Given the description of an element on the screen output the (x, y) to click on. 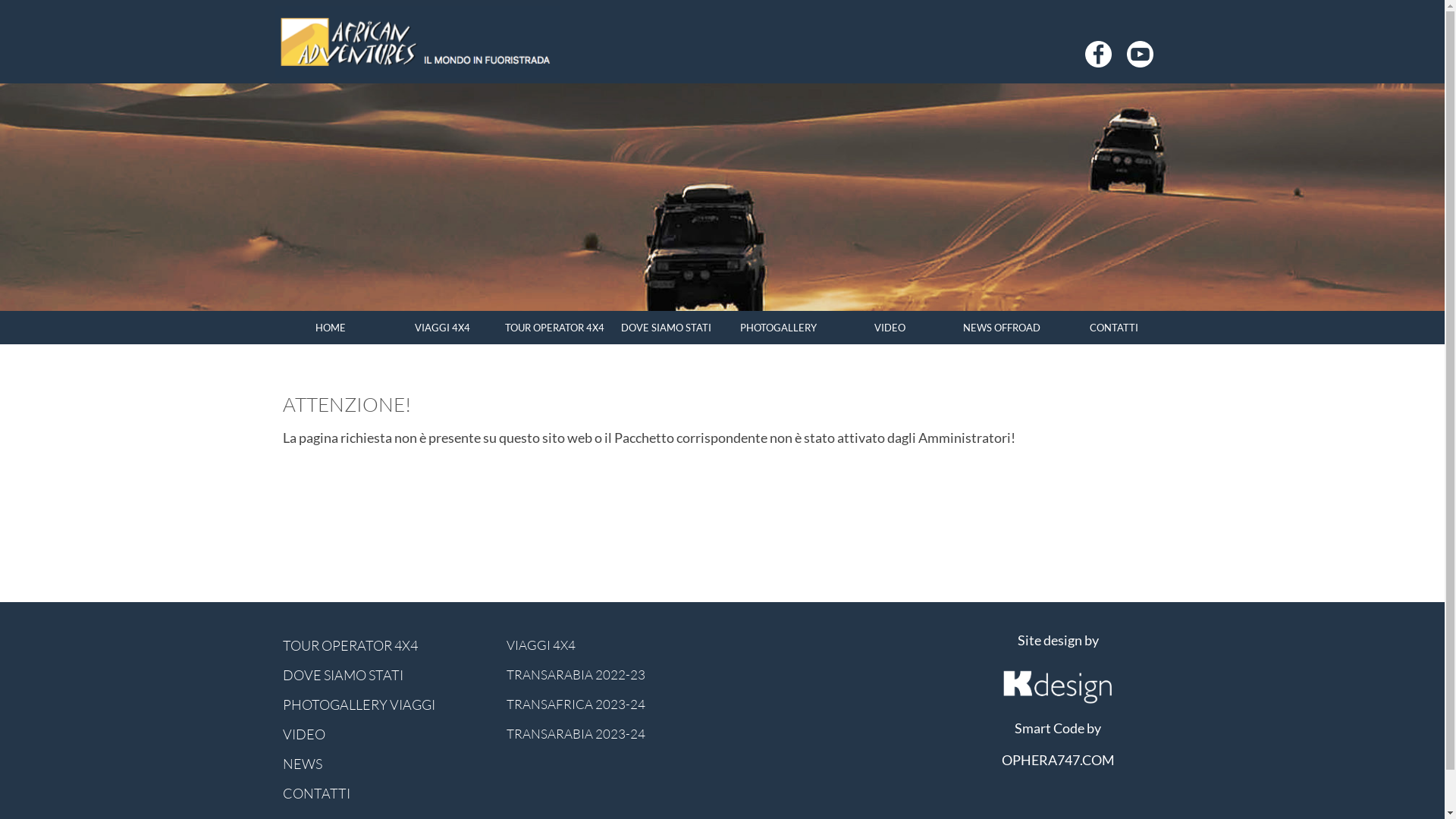
CONTATTI Element type: text (386, 793)
DOVE SIAMO STATI Element type: text (666, 327)
VIAGGI 4X4 Element type: text (442, 327)
VIDEO Element type: text (890, 327)
HOME Element type: text (330, 327)
PHOTOGALLERY Element type: text (777, 327)
VIDEO Element type: text (386, 733)
TRANSAFRICA 2023-24 Element type: text (610, 704)
NEWS OFFROAD Element type: text (1002, 327)
TRANSARABIA 2022-23 Element type: text (610, 674)
CONTATTI Element type: text (1113, 327)
TOUR OPERATOR 4X4 Element type: text (554, 327)
TRANSARABIA 2023-24 Element type: text (610, 733)
TOUR OPERATOR 4X4 Element type: text (386, 645)
NEWS Element type: text (386, 763)
DOVE SIAMO STATI Element type: text (386, 674)
VIAGGI 4X4 Element type: text (610, 645)
PHOTOGALLERY VIAGGI Element type: text (386, 704)
OPHERA747.COM Element type: text (1057, 759)
